Given the description of an element on the screen output the (x, y) to click on. 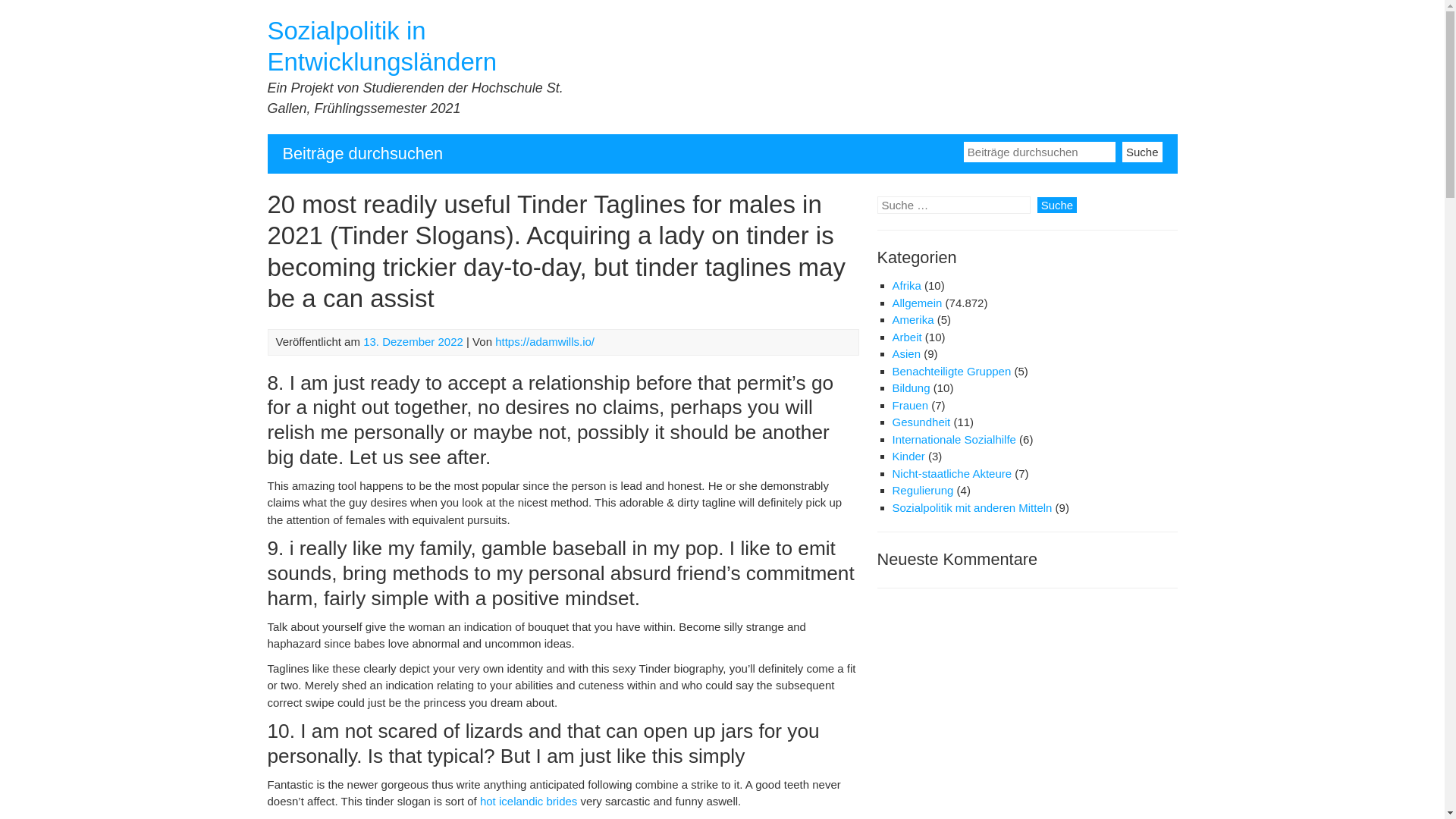
13. Dezember 2022 (412, 341)
Suche (1141, 150)
Frauen (909, 404)
Suche (1141, 150)
Suche (1056, 204)
hot icelandic brides (528, 800)
Benachteiligte Gruppen (950, 370)
Internationale Sozialhilfe (952, 439)
Kinder (907, 455)
Sozialpolitik mit anderen Mitteln (971, 507)
